Given the description of an element on the screen output the (x, y) to click on. 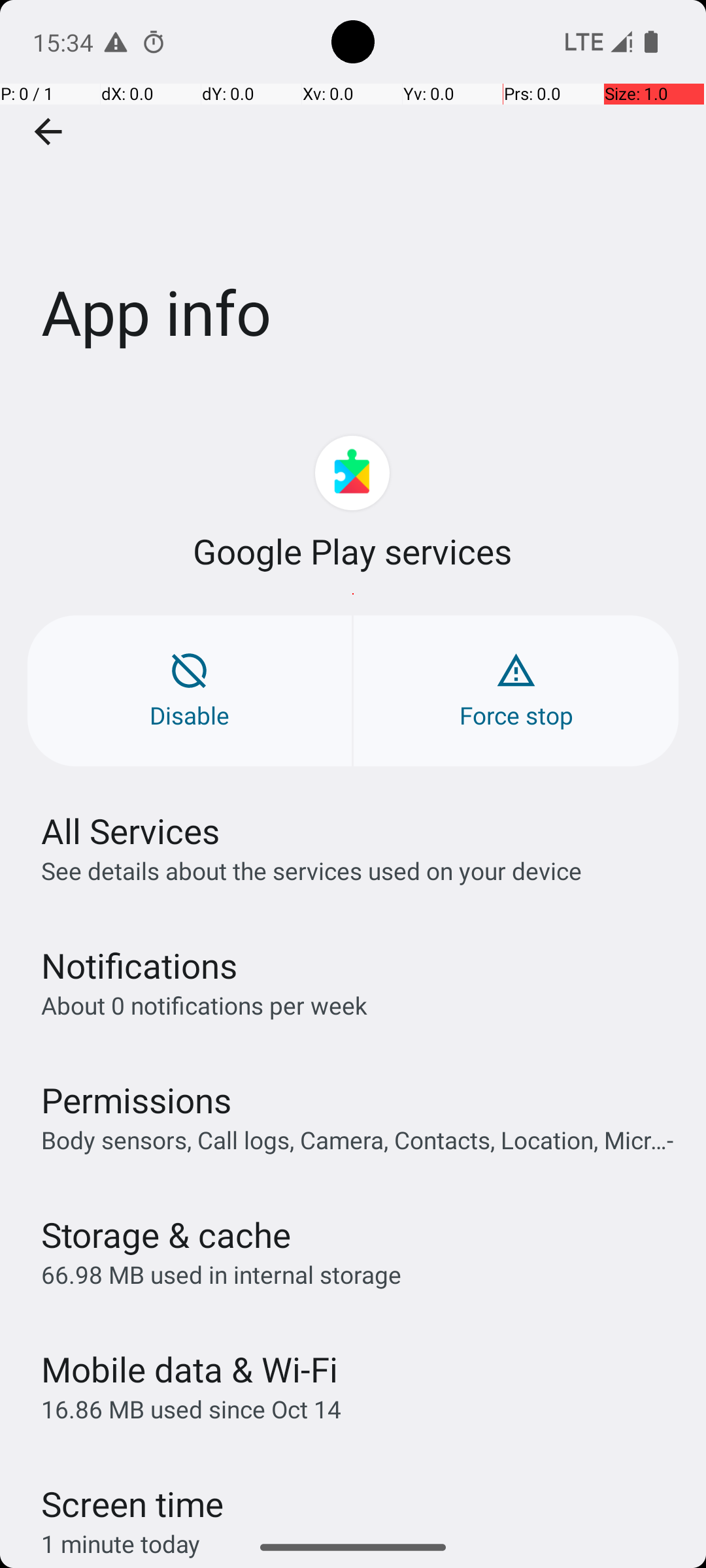
App info Element type: android.widget.FrameLayout (353, 195)
Google Play services Element type: android.widget.TextView (352, 550)
Disable Element type: android.widget.Button (189, 690)
Force stop Element type: android.widget.Button (515, 690)
All Services Element type: android.widget.TextView (130, 830)
See details about the services used on your device Element type: android.widget.TextView (311, 870)
About 0 notifications per week Element type: android.widget.TextView (204, 1004)
Permissions Element type: android.widget.TextView (136, 1099)
Body sensors, Call logs, Camera, Contacts, Location, Microphone, Music and audio, Nearby devices, Notifications, Phone, Photos and videos, Physical activity, and SMS Element type: android.widget.TextView (359, 1139)
Storage & cache Element type: android.widget.TextView (166, 1234)
66.98 MB used in internal storage Element type: android.widget.TextView (221, 1273)
Mobile data & Wi‑Fi Element type: android.widget.TextView (189, 1368)
16.86 MB used since Oct 14 Element type: android.widget.TextView (191, 1408)
